Given the description of an element on the screen output the (x, y) to click on. 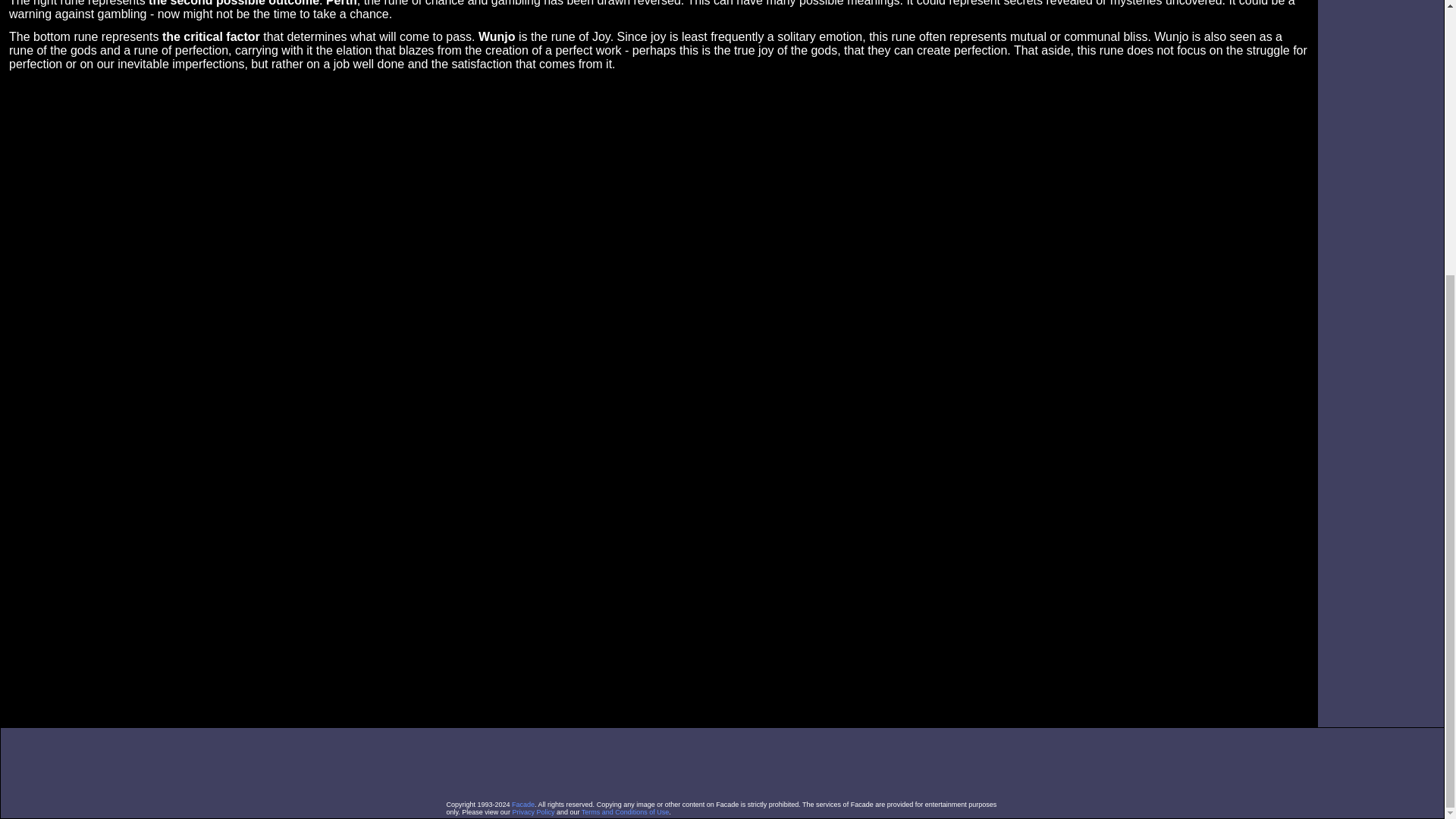
Advertisement (721, 763)
Privacy Policy (533, 811)
Facade (523, 804)
Terms and Conditions of Use (624, 811)
